Given the description of an element on the screen output the (x, y) to click on. 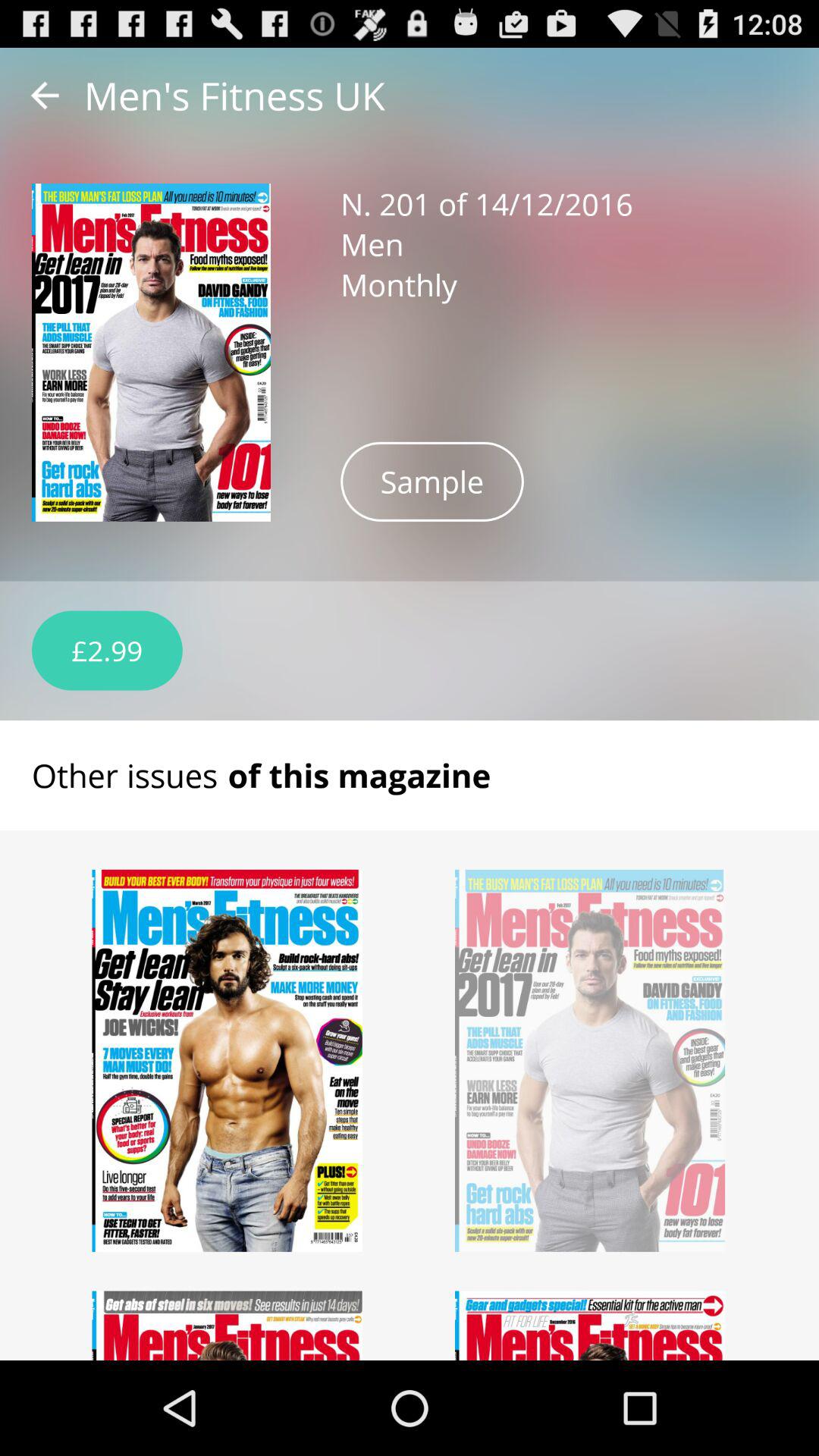
select another issue of this magazine (227, 1060)
